Given the description of an element on the screen output the (x, y) to click on. 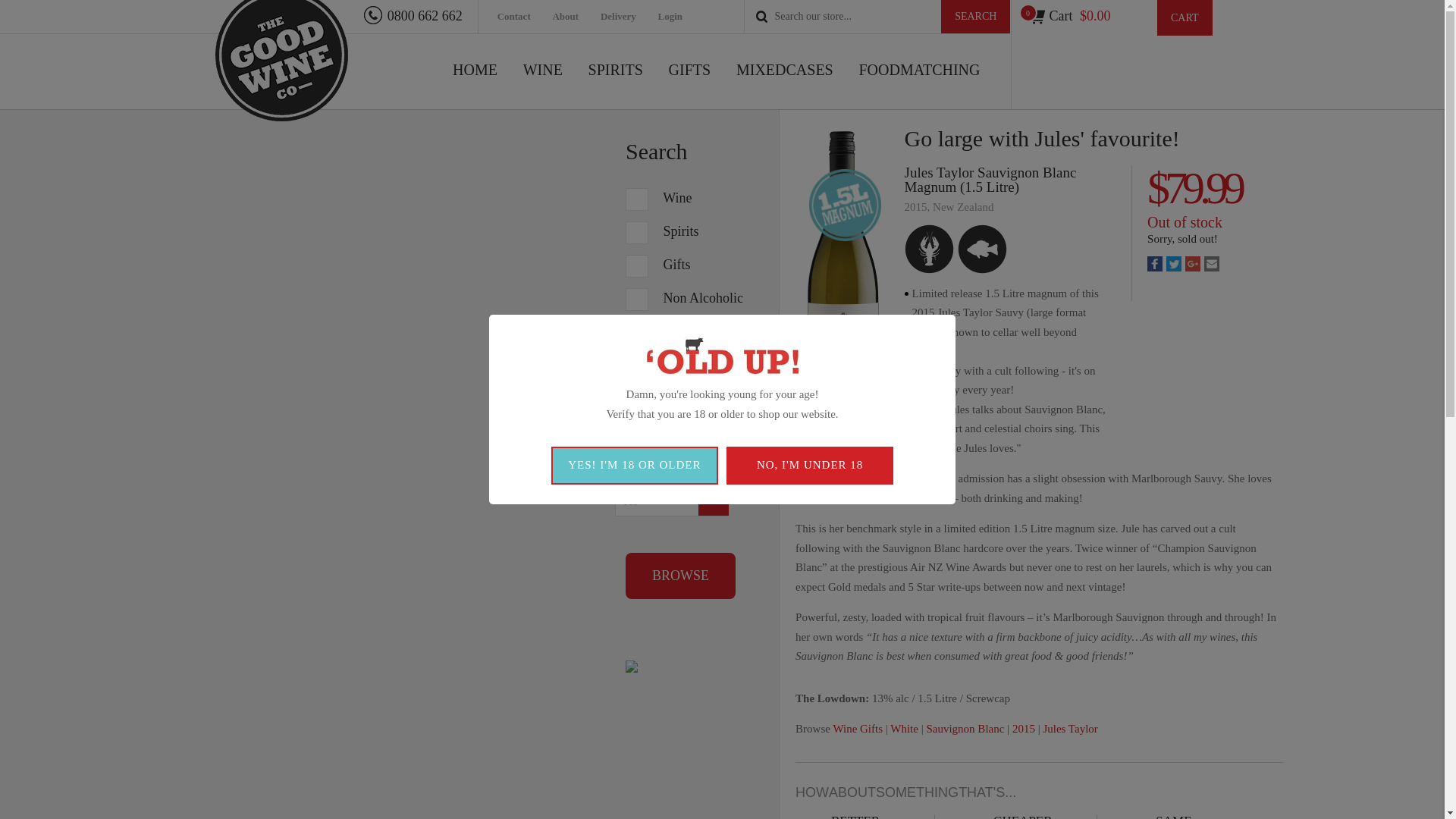
7895 (636, 232)
SPIRITS (615, 86)
359 (636, 199)
HOME (474, 86)
About (573, 16)
Browse (680, 575)
Contact (523, 16)
MIXEDCASES (784, 86)
Login (679, 16)
0800 662 662 (413, 15)
